Given the description of an element on the screen output the (x, y) to click on. 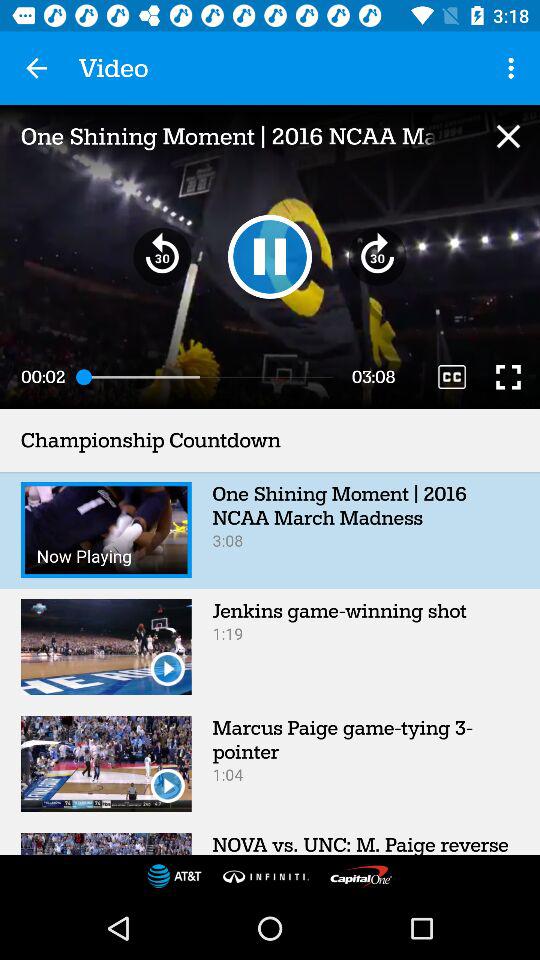
close (508, 136)
